Given the description of an element on the screen output the (x, y) to click on. 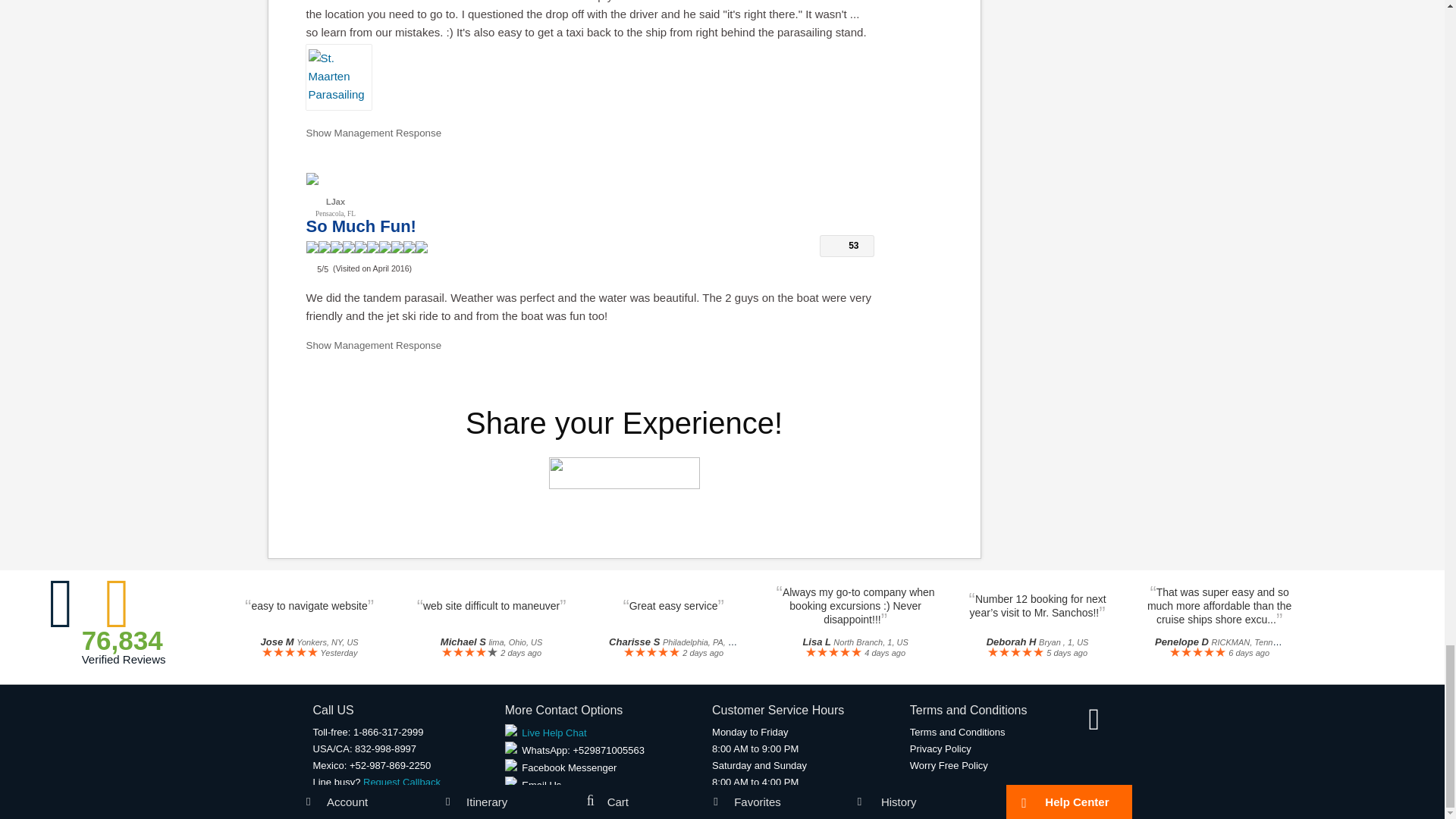
Live Help Chat (545, 732)
Request Callback (401, 781)
